Given the description of an element on the screen output the (x, y) to click on. 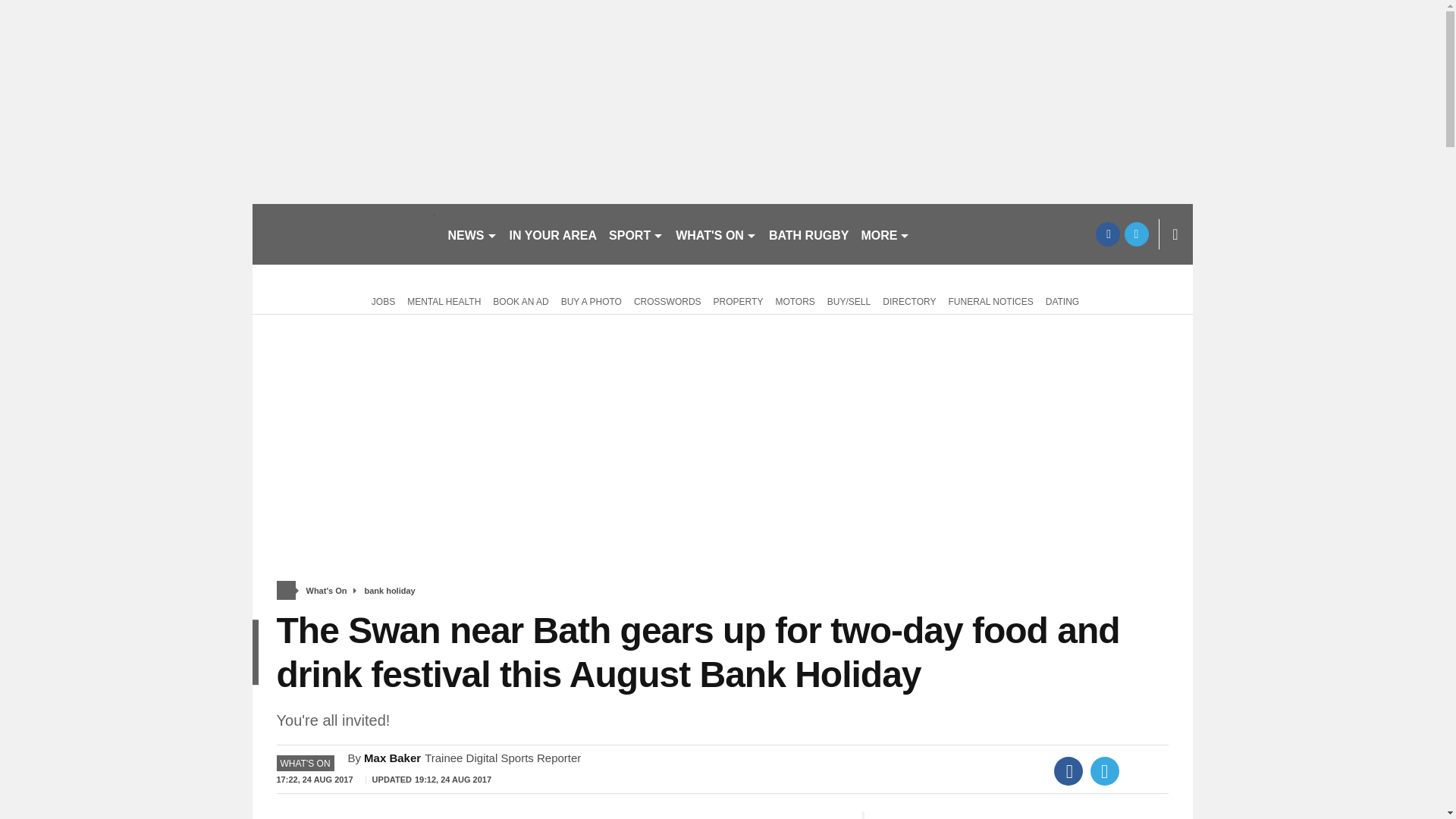
BATH RUGBY (808, 233)
CROSSWORDS (667, 300)
facebook (1106, 233)
WHAT'S ON (715, 233)
MENTAL HEALTH (443, 300)
Twitter (1104, 770)
MORE (884, 233)
SPORT (635, 233)
BOOK AN AD (520, 300)
IN YOUR AREA (553, 233)
